Given the description of an element on the screen output the (x, y) to click on. 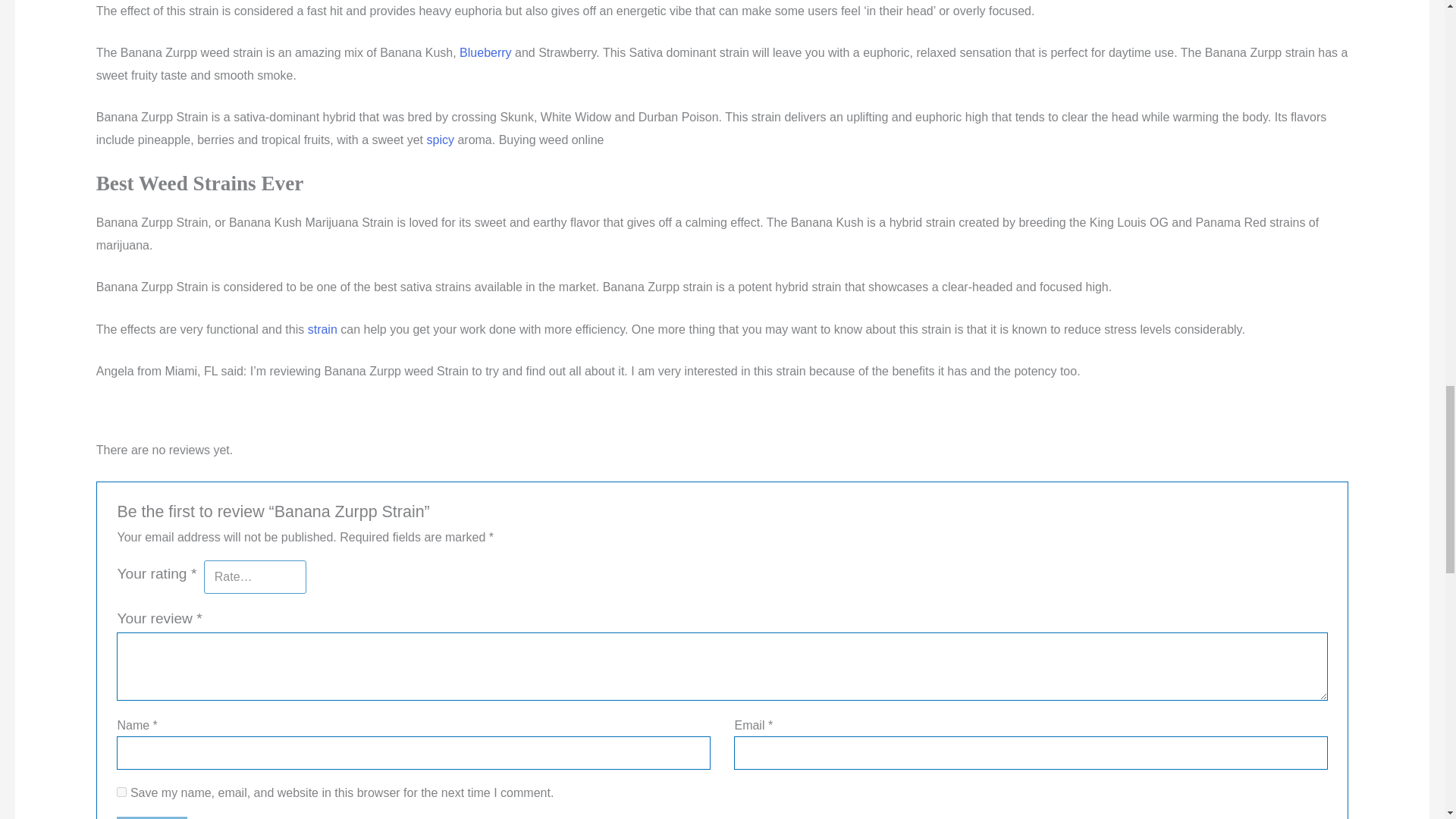
Submit (151, 817)
yes (121, 791)
